Given the description of an element on the screen output the (x, y) to click on. 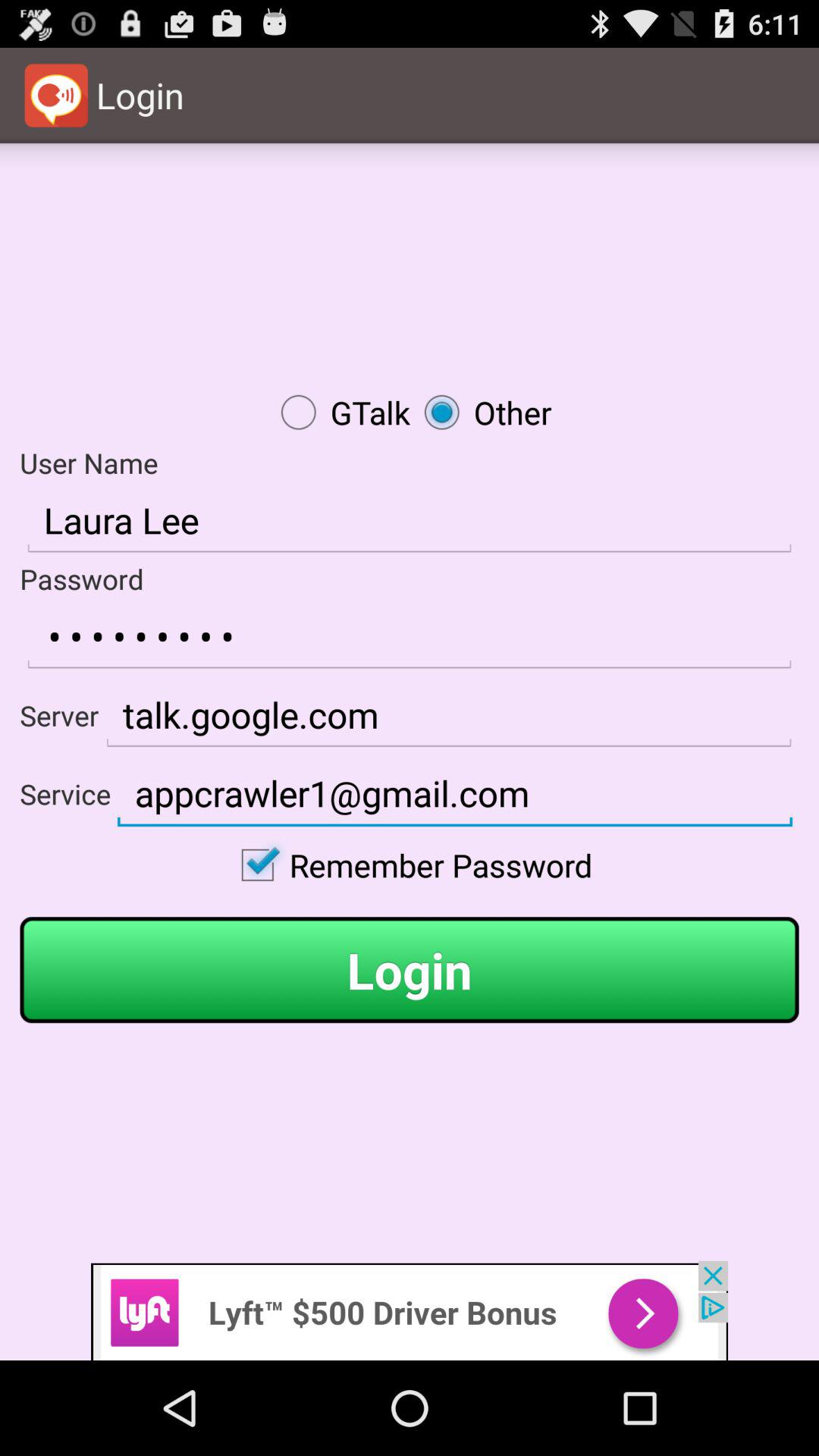
open advertisement (409, 1310)
